Given the description of an element on the screen output the (x, y) to click on. 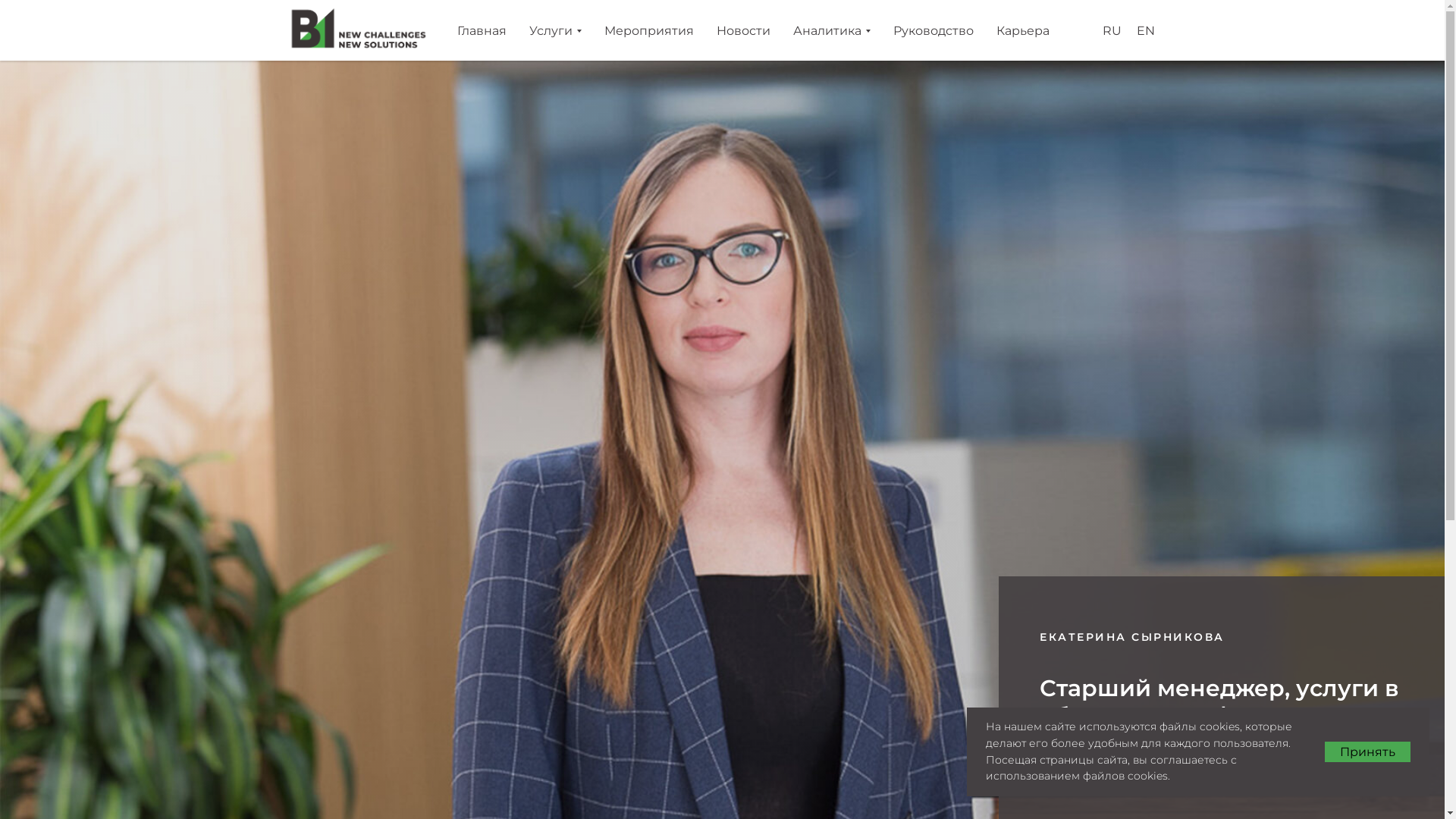
EN Element type: text (1144, 29)
RU Element type: text (1111, 29)
